Given the description of an element on the screen output the (x, y) to click on. 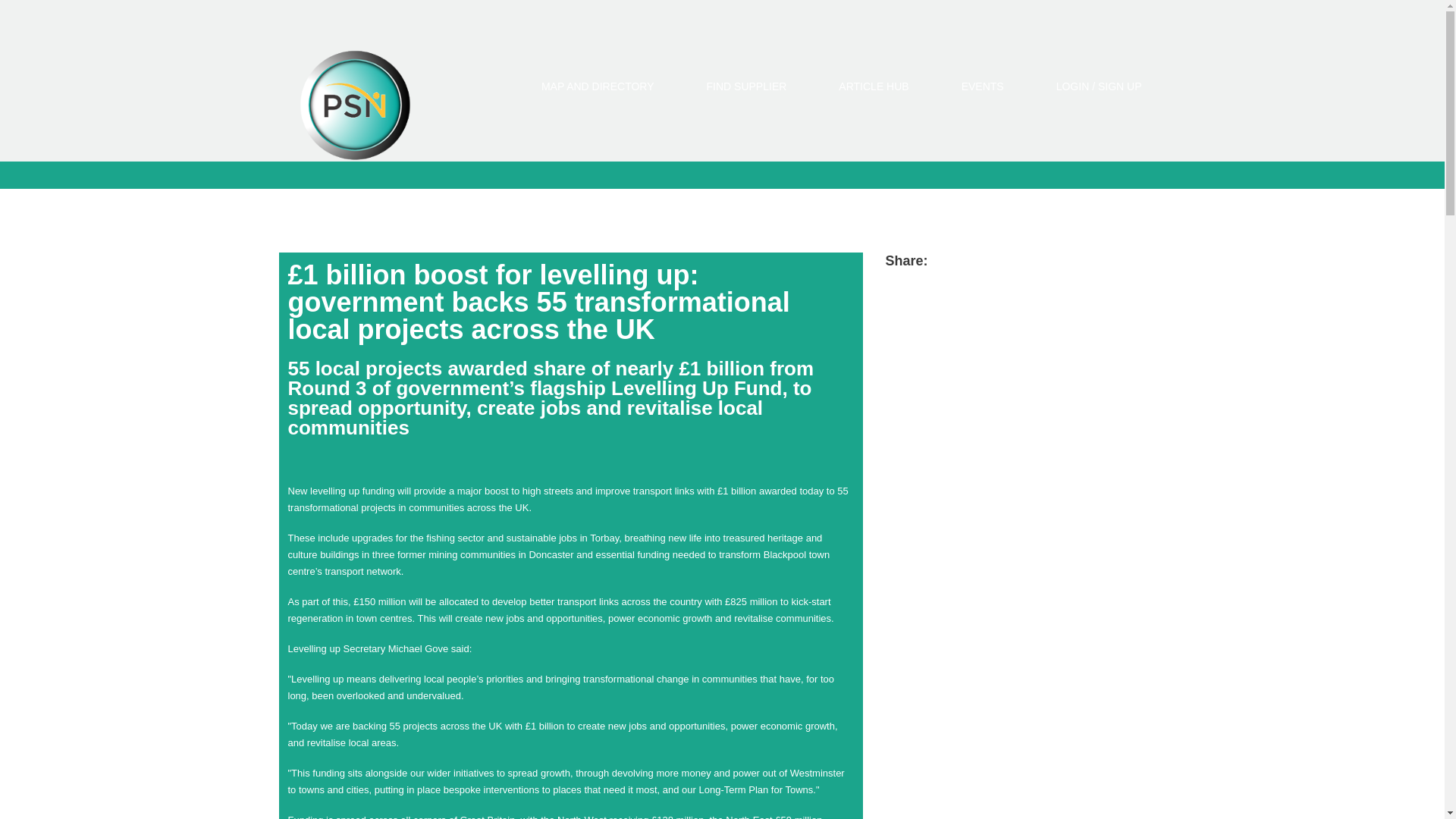
MAP AND DIRECTORY (598, 85)
FIND SUPPLIER (746, 85)
EVENTS (982, 85)
ARTICLE HUB (873, 85)
